Given the description of an element on the screen output the (x, y) to click on. 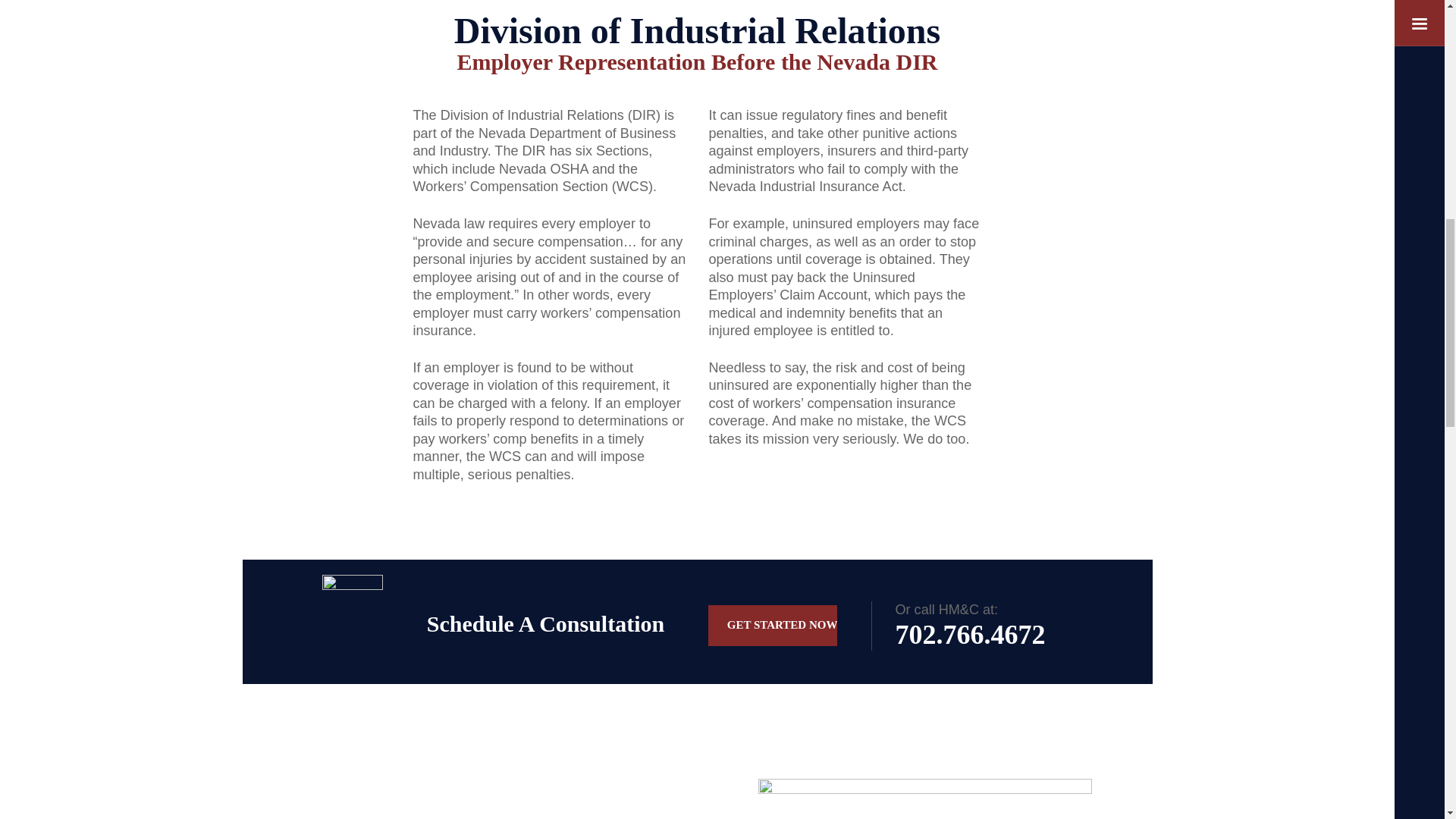
practice-area-pic-workers-comp-02 (925, 798)
